Given the description of an element on the screen output the (x, y) to click on. 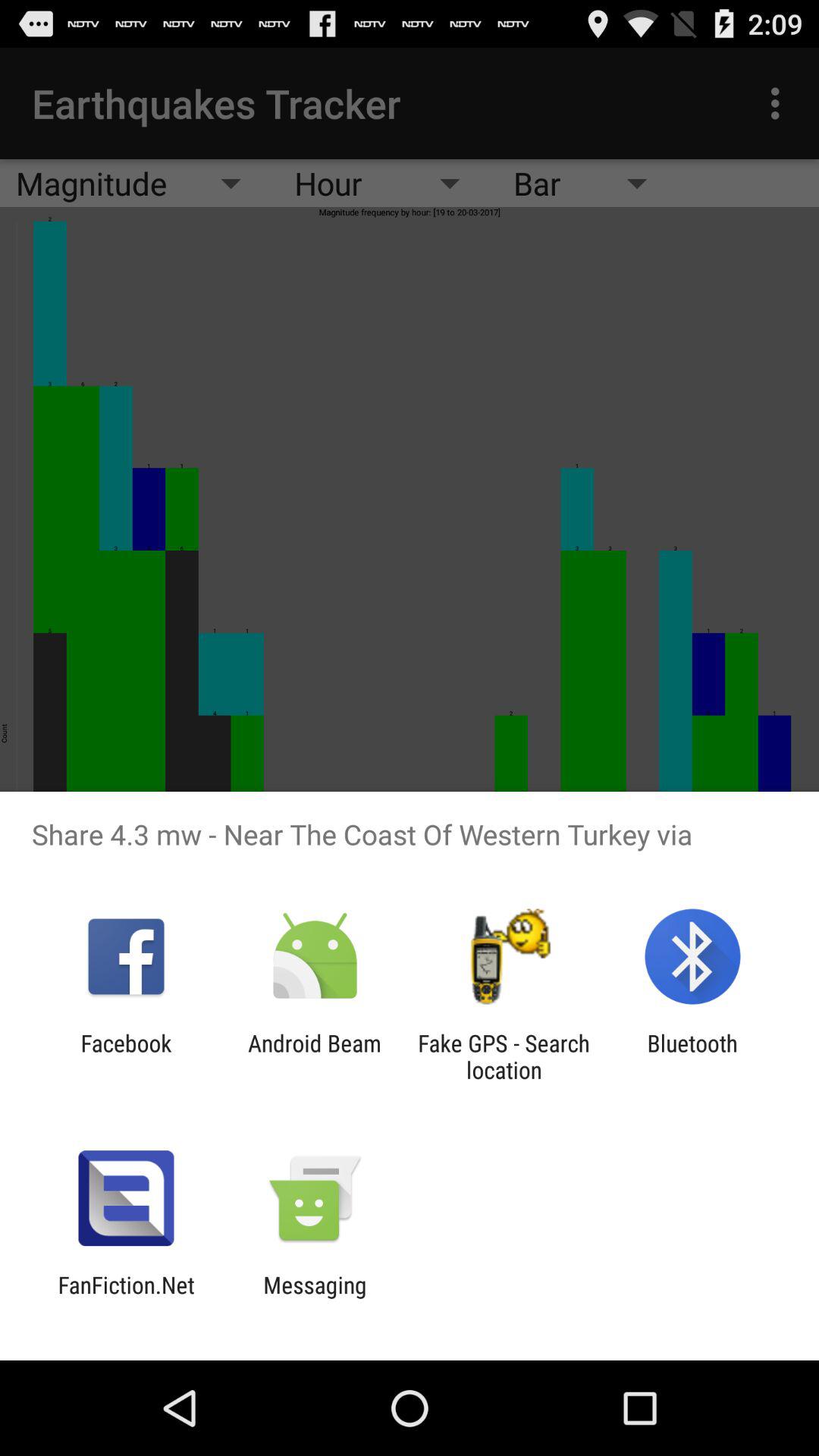
launch the bluetooth icon (692, 1056)
